Given the description of an element on the screen output the (x, y) to click on. 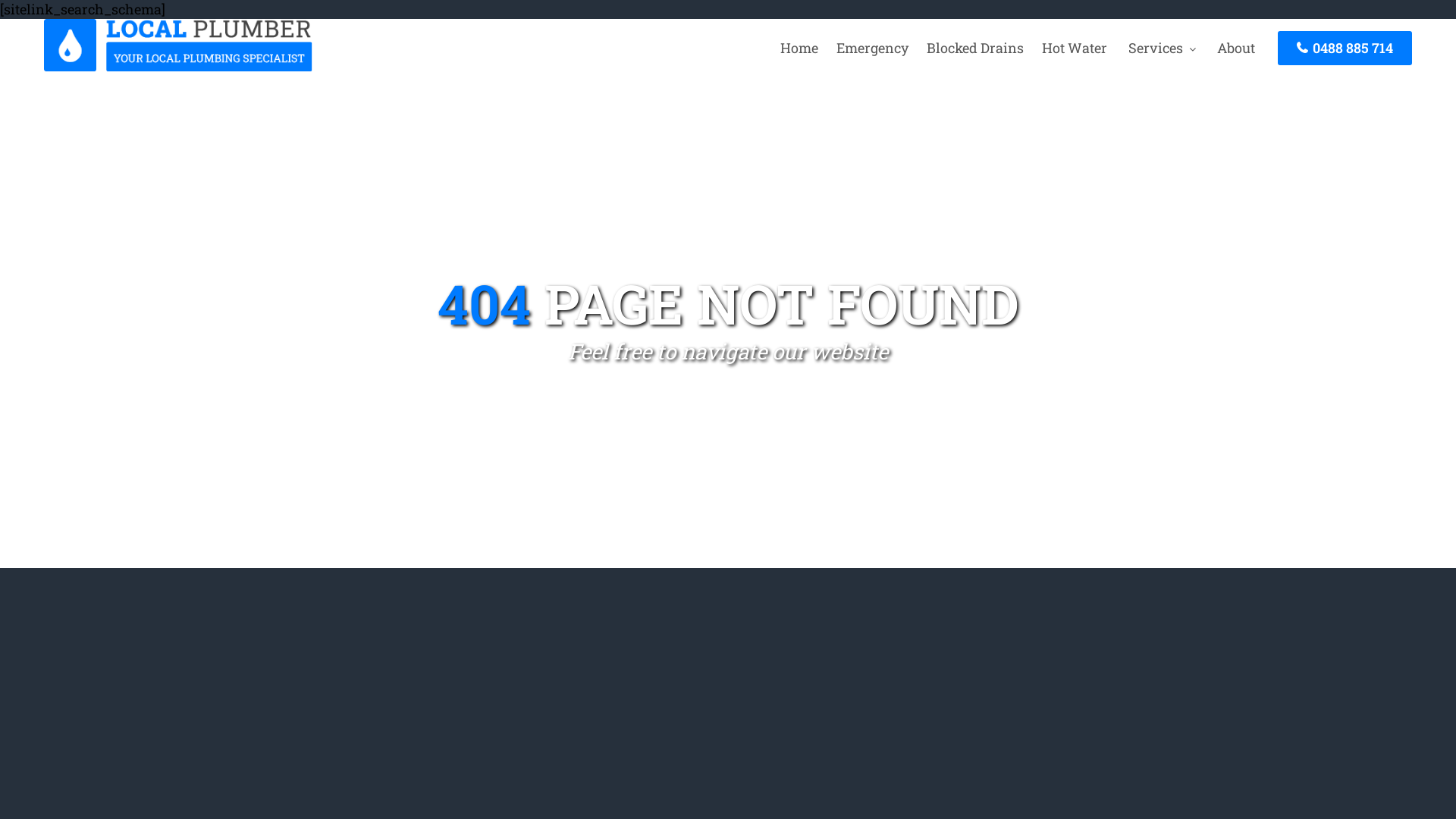
Home Element type: text (798, 47)
Emergency Element type: text (872, 47)
0488 885 714 Element type: text (1344, 48)
About Element type: text (1235, 47)
Hot Water Element type: text (1074, 47)
Services Element type: text (1161, 47)
Plumbers Element type: hover (177, 66)
Blocked Drains Element type: text (975, 47)
